Given the description of an element on the screen output the (x, y) to click on. 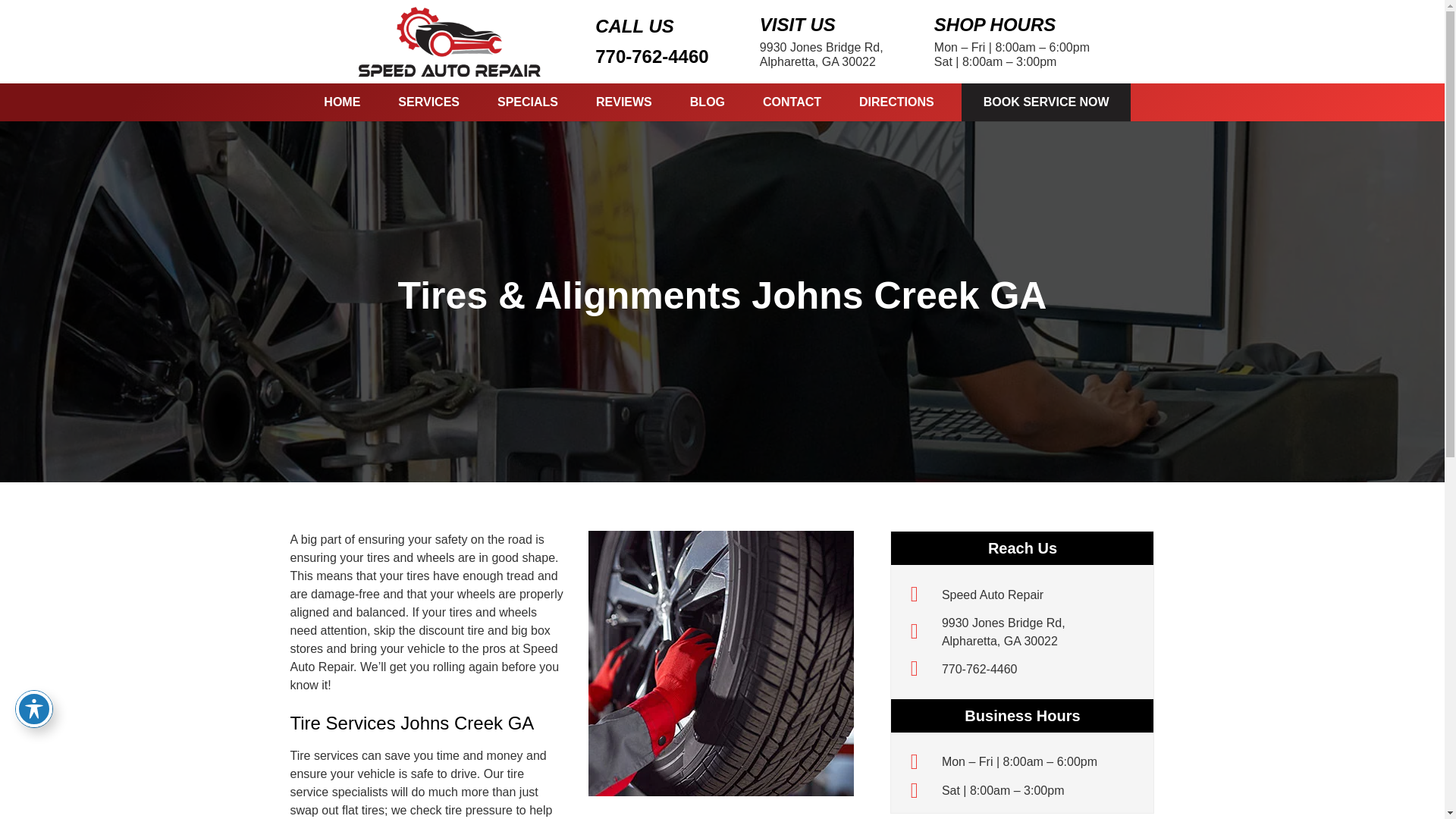
BLOG (707, 102)
REVIEWS (623, 102)
SPECIALS (821, 54)
HOME (527, 102)
BOOK SERVICE NOW (341, 102)
CONTACT (1045, 101)
Home (1003, 632)
Home (792, 102)
770-762-4460 (921, 594)
Speed Auto Repair (992, 595)
770-762-4460 (979, 669)
DIRECTIONS (992, 595)
SERVICES (651, 55)
